Given the description of an element on the screen output the (x, y) to click on. 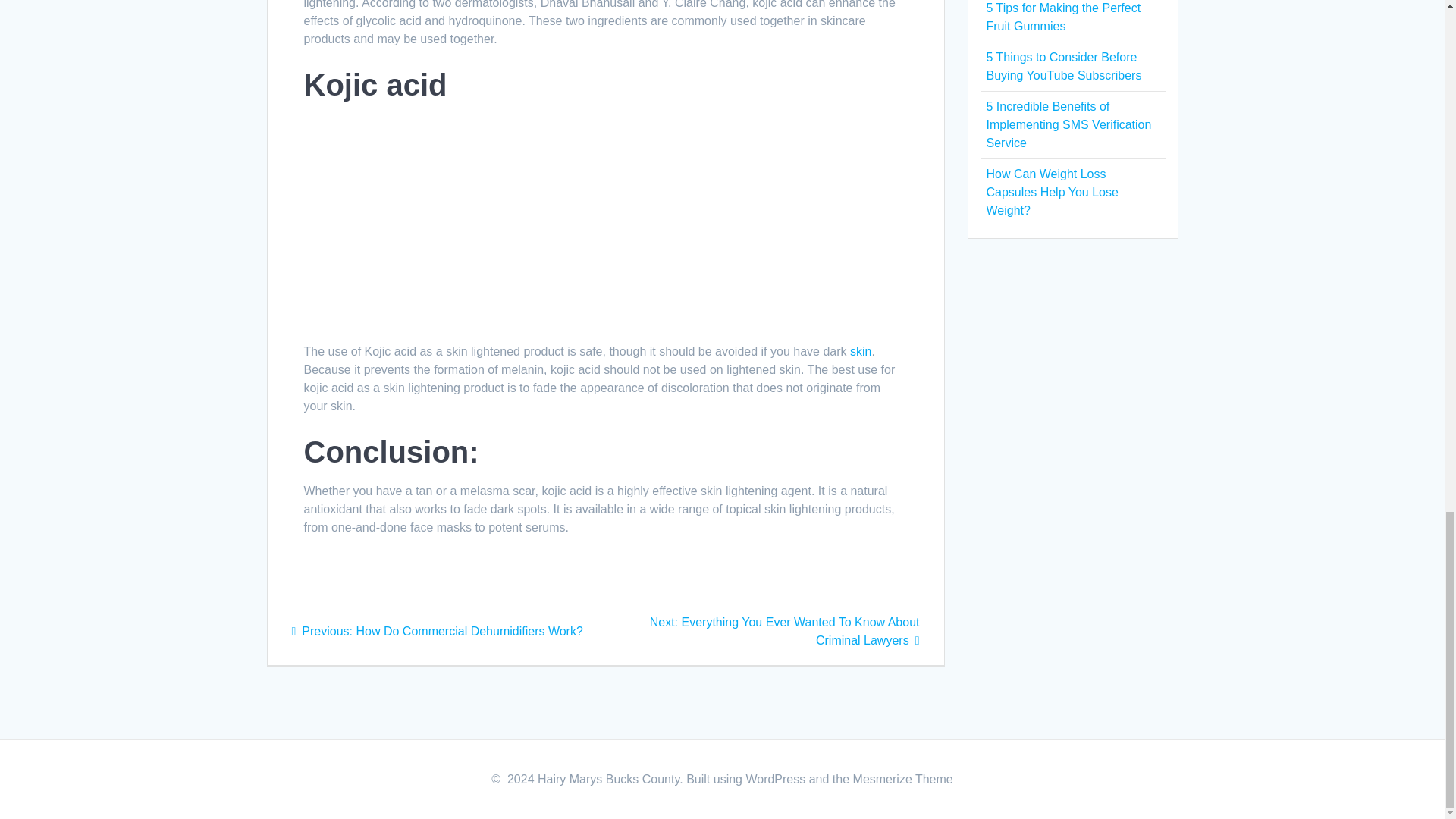
5 Tips for Making the Perfect Fruit Gummies (1062, 16)
skin (860, 350)
